Given the description of an element on the screen output the (x, y) to click on. 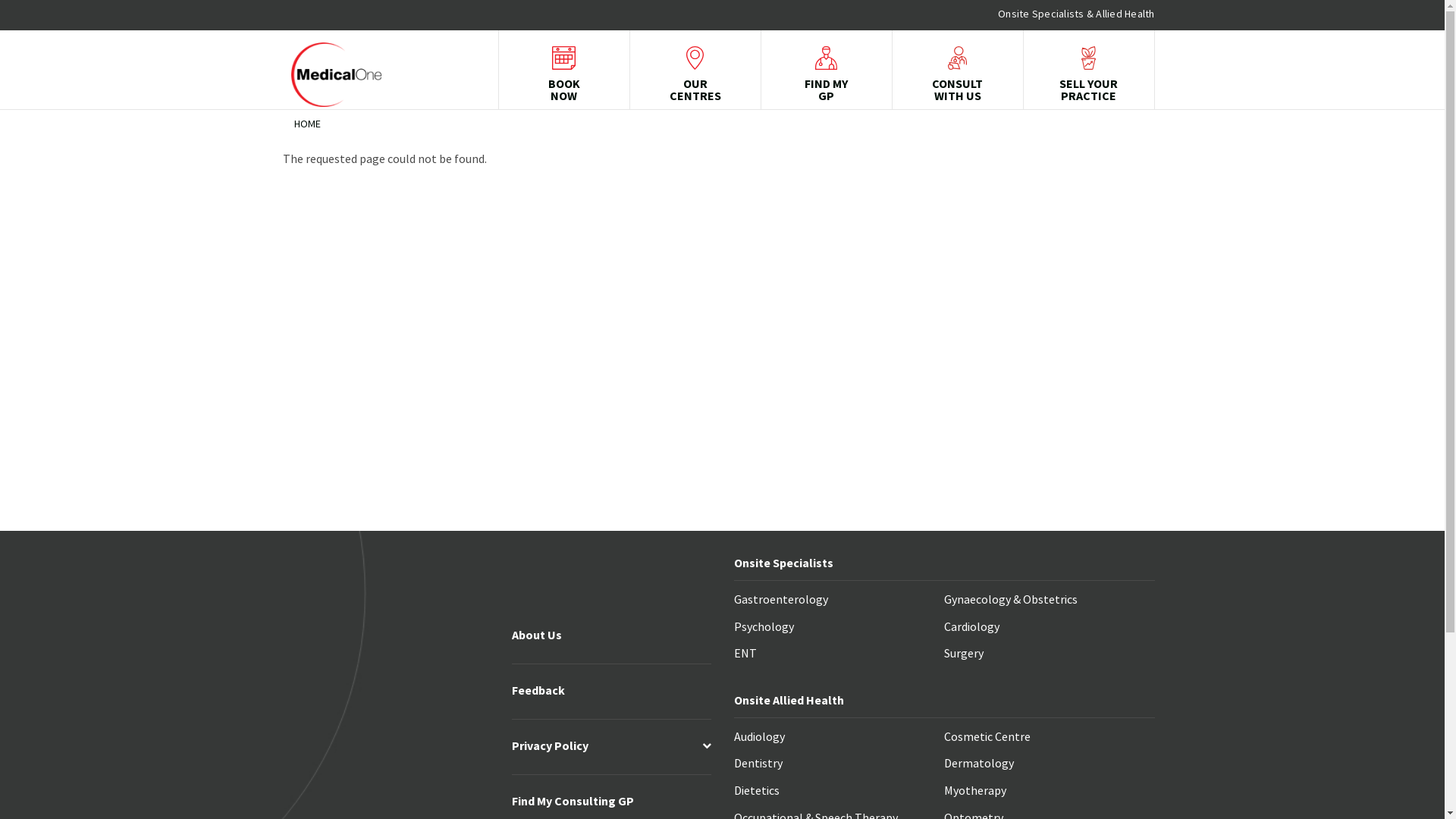
Cosmetic Centre Element type: text (987, 737)
Myotherapy Element type: text (975, 791)
Onsite Specialists & Allied Health Element type: text (1075, 14)
BOOK
NOW Element type: text (563, 74)
Skip to main content Element type: text (0, 0)
Psychology Element type: text (763, 627)
HOME Element type: text (307, 123)
CONSULT
WITH US Element type: text (956, 74)
Gastroenterology Element type: text (781, 600)
Dietetics Element type: text (756, 791)
Surgery Element type: text (963, 654)
Gynaecology & Obstetrics Element type: text (1010, 600)
Dentistry Element type: text (758, 764)
About Us Element type: text (536, 635)
FIND MY
GP Element type: text (826, 74)
Feedback Element type: text (537, 691)
ENT Element type: text (745, 654)
Dermatology Element type: text (978, 764)
Privacy Policy Element type: text (549, 746)
Audiology Element type: text (759, 737)
Cardiology Element type: text (971, 627)
SELL YOUR
PRACTICE Element type: text (1088, 74)
OUR
CENTRES Element type: text (694, 74)
